Given the description of an element on the screen output the (x, y) to click on. 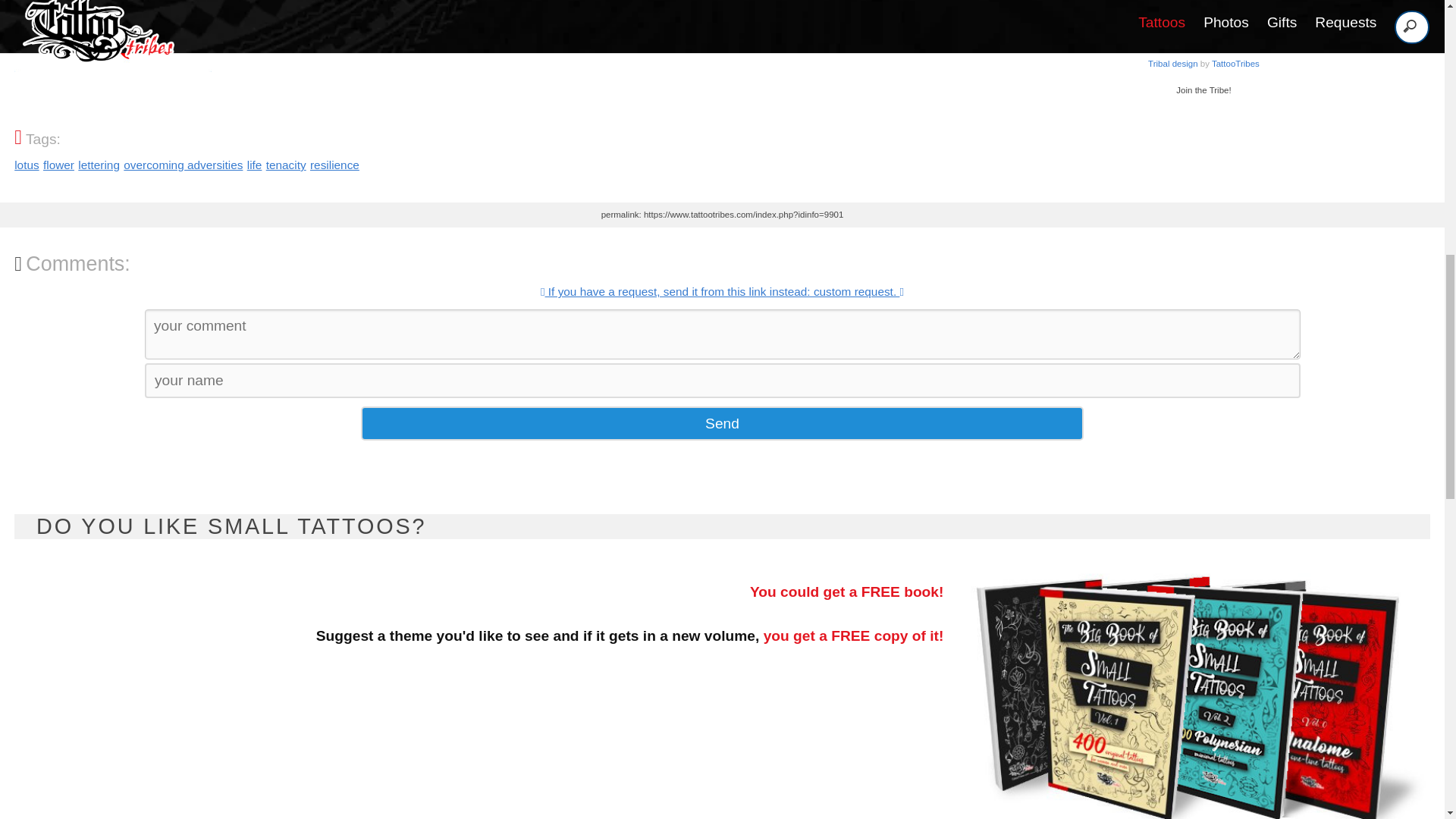
life (254, 164)
lotus (1202, 58)
Tribal lotus t-shirt (26, 164)
overcoming adversities (1202, 58)
lettering (183, 164)
Send (98, 164)
flower (722, 423)
Send (58, 164)
tenacity (722, 423)
resilience (285, 164)
